Given the description of an element on the screen output the (x, y) to click on. 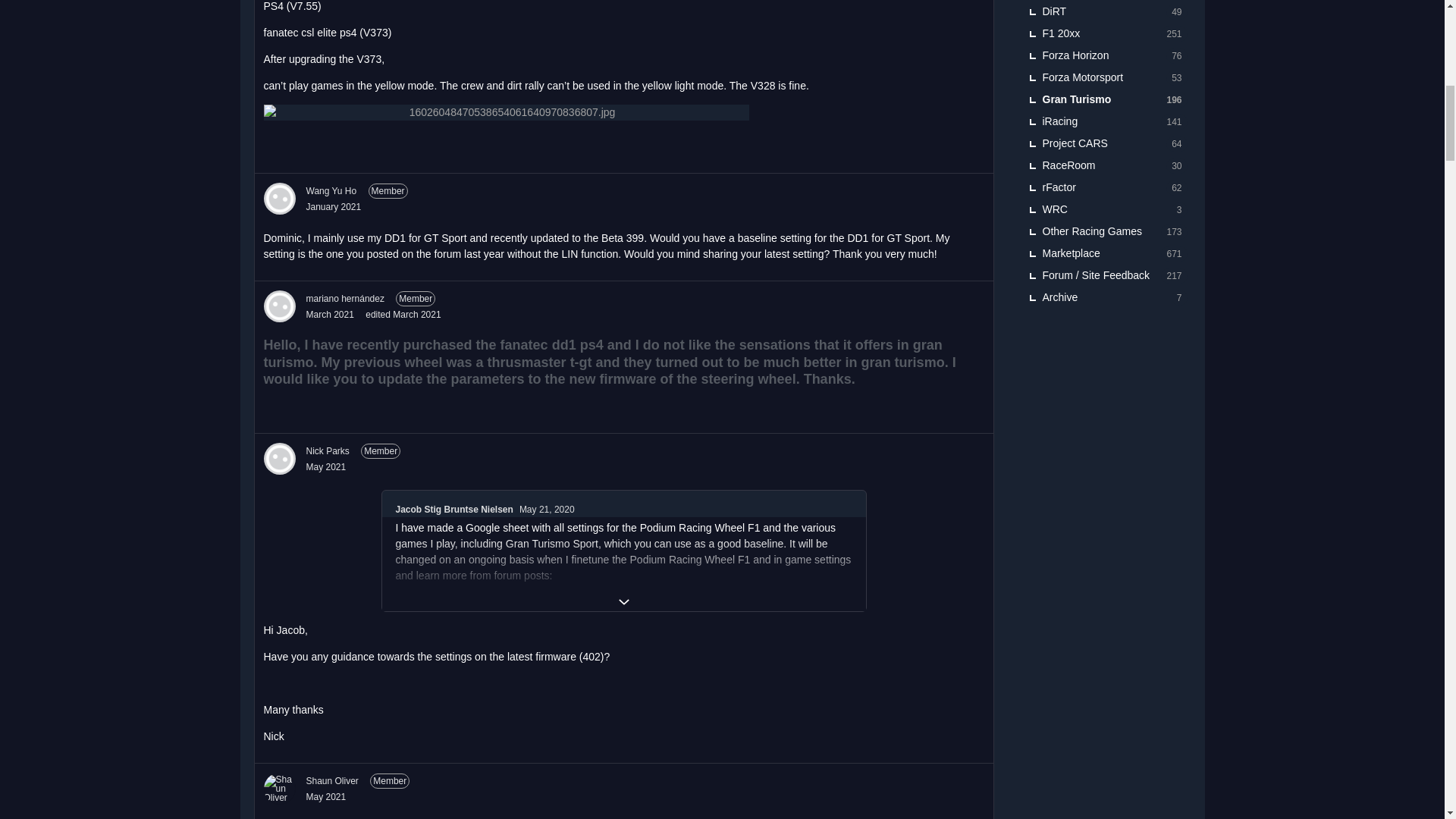
Thursday, May 21, 2020 at 11:24 PM (547, 509)
Expand (623, 601)
May 5, 2021 10:55AM (325, 466)
January 18, 2021 6:02AM (333, 206)
Wang Yu Ho (279, 198)
March 4, 2021 8:19PM (329, 314)
Nick Parks (279, 459)
Expand (622, 601)
